Given the description of an element on the screen output the (x, y) to click on. 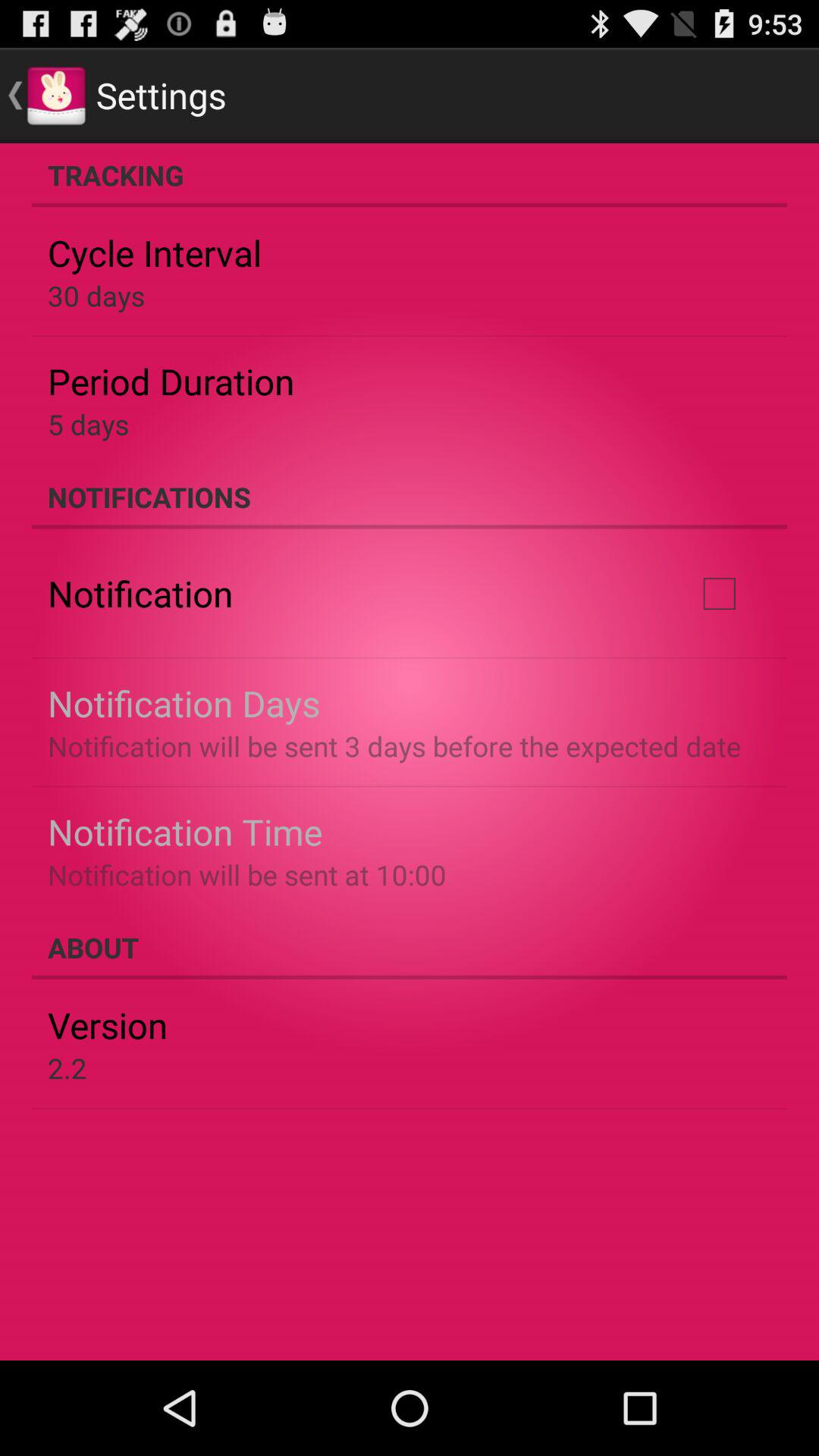
press app above the period duration item (96, 295)
